Given the description of an element on the screen output the (x, y) to click on. 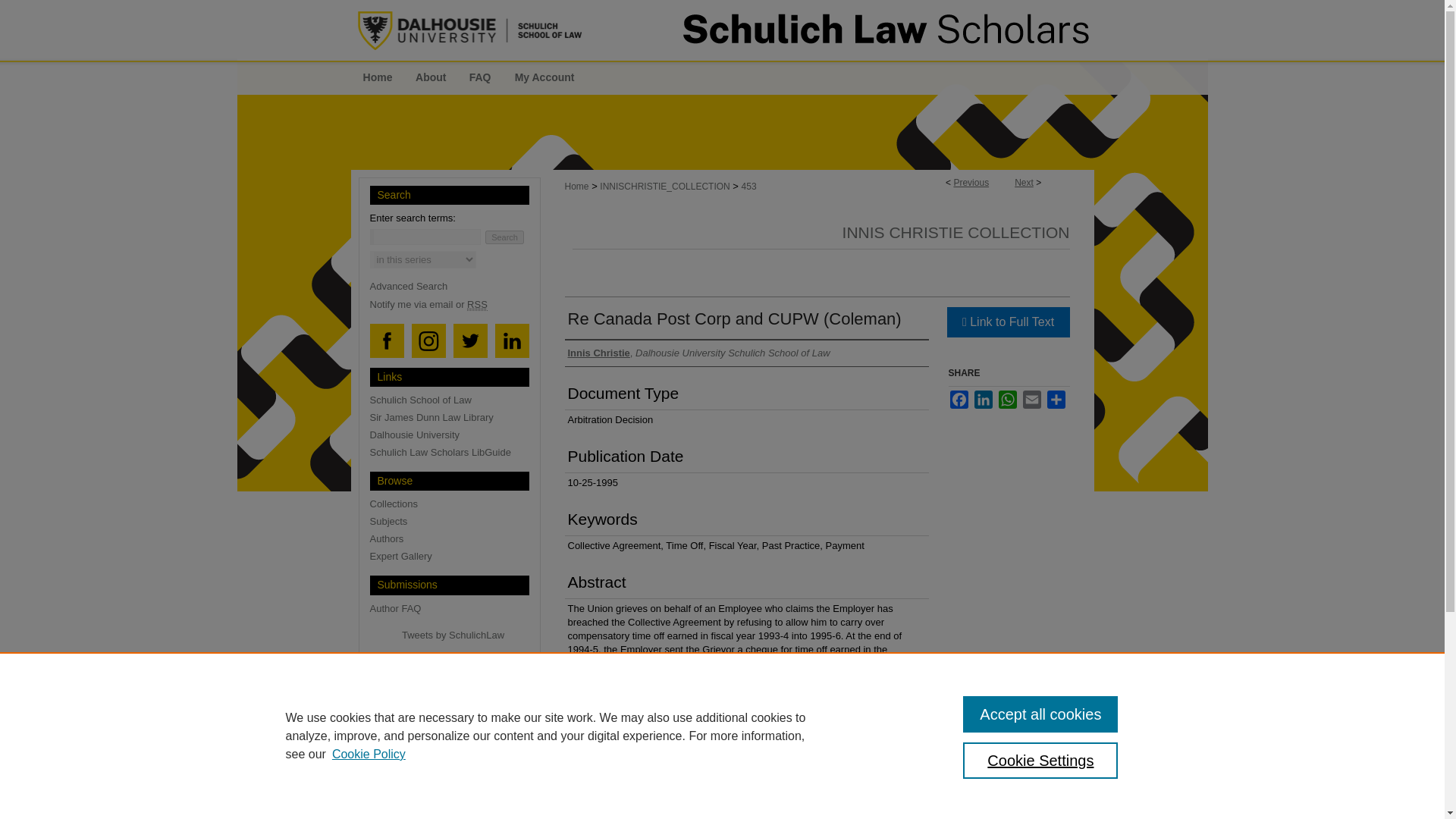
Facebook (958, 398)
INNIS CHRISTIE COLLECTION (956, 231)
Search (504, 237)
Search (504, 237)
Innis Christie, Dalhousie University Schulich School of Law (698, 352)
Really Simple Syndication (477, 304)
About (430, 77)
My Account (544, 77)
Collections (454, 503)
Schulich Law Scholars LibGuide (454, 451)
Search (504, 237)
Email or RSS Notifications (454, 304)
FAQ (480, 77)
Schulich School of Law Twitter (469, 341)
Home (576, 185)
